Given the description of an element on the screen output the (x, y) to click on. 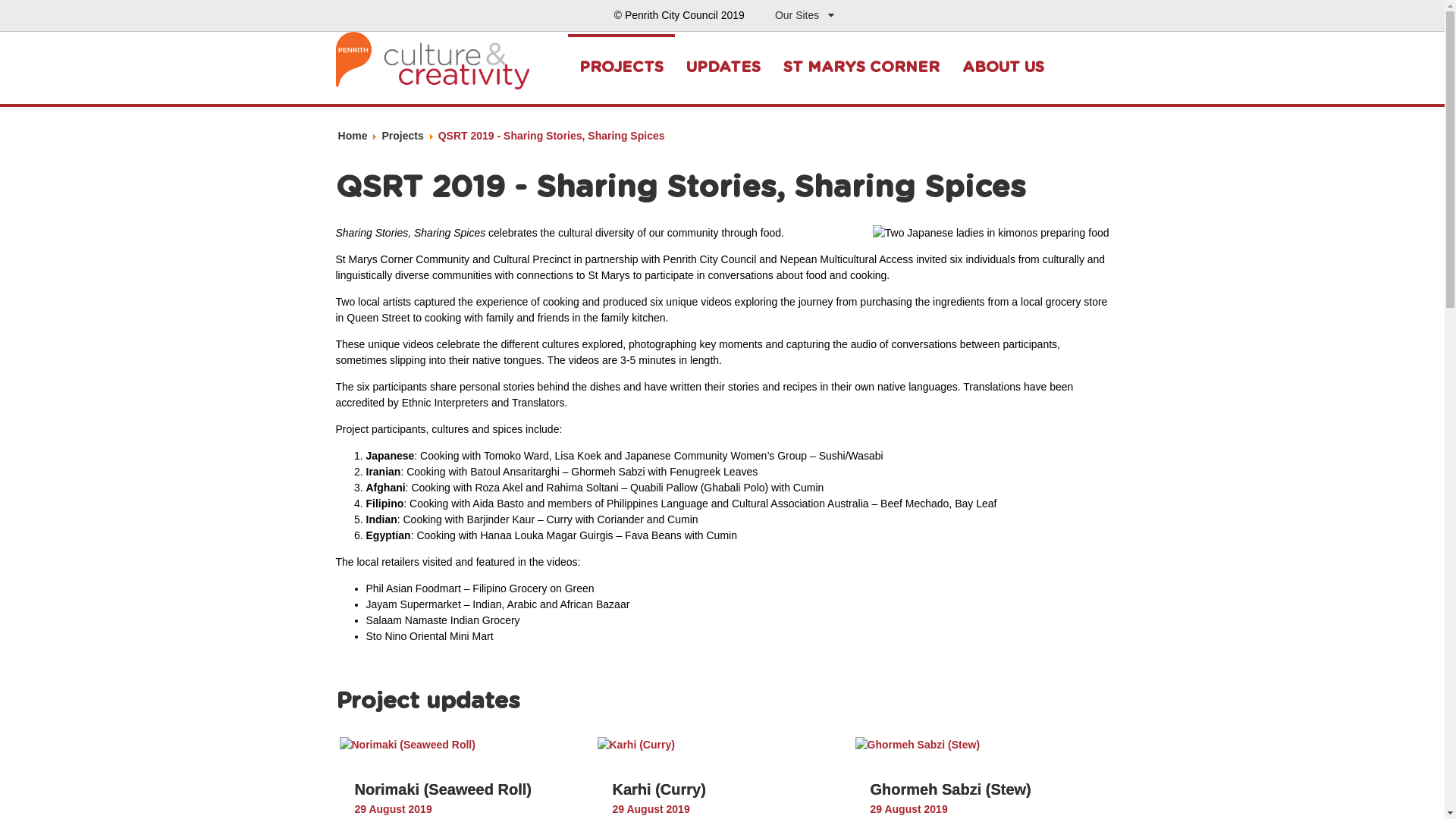
Ghormeh Sabzi (Stew) Element type: text (950, 789)
Ghormeh Sabzi (Stew) Element type: hover (917, 745)
ABOUT US Element type: text (1002, 67)
Karhi (Curry) Element type: hover (635, 745)
PROJECTS Element type: text (620, 65)
ST MARYS CORNER Element type: text (860, 67)
Norimaki (Seaweed Roll) Element type: text (442, 789)
Home Element type: text (352, 135)
Projects Element type: text (402, 135)
Karhi (Curry) Element type: text (659, 789)
Norimaki (Seaweed Roll) Element type: hover (407, 745)
Our Sites Element type: text (804, 15)
UPDATES Element type: text (722, 67)
